Given the description of an element on the screen output the (x, y) to click on. 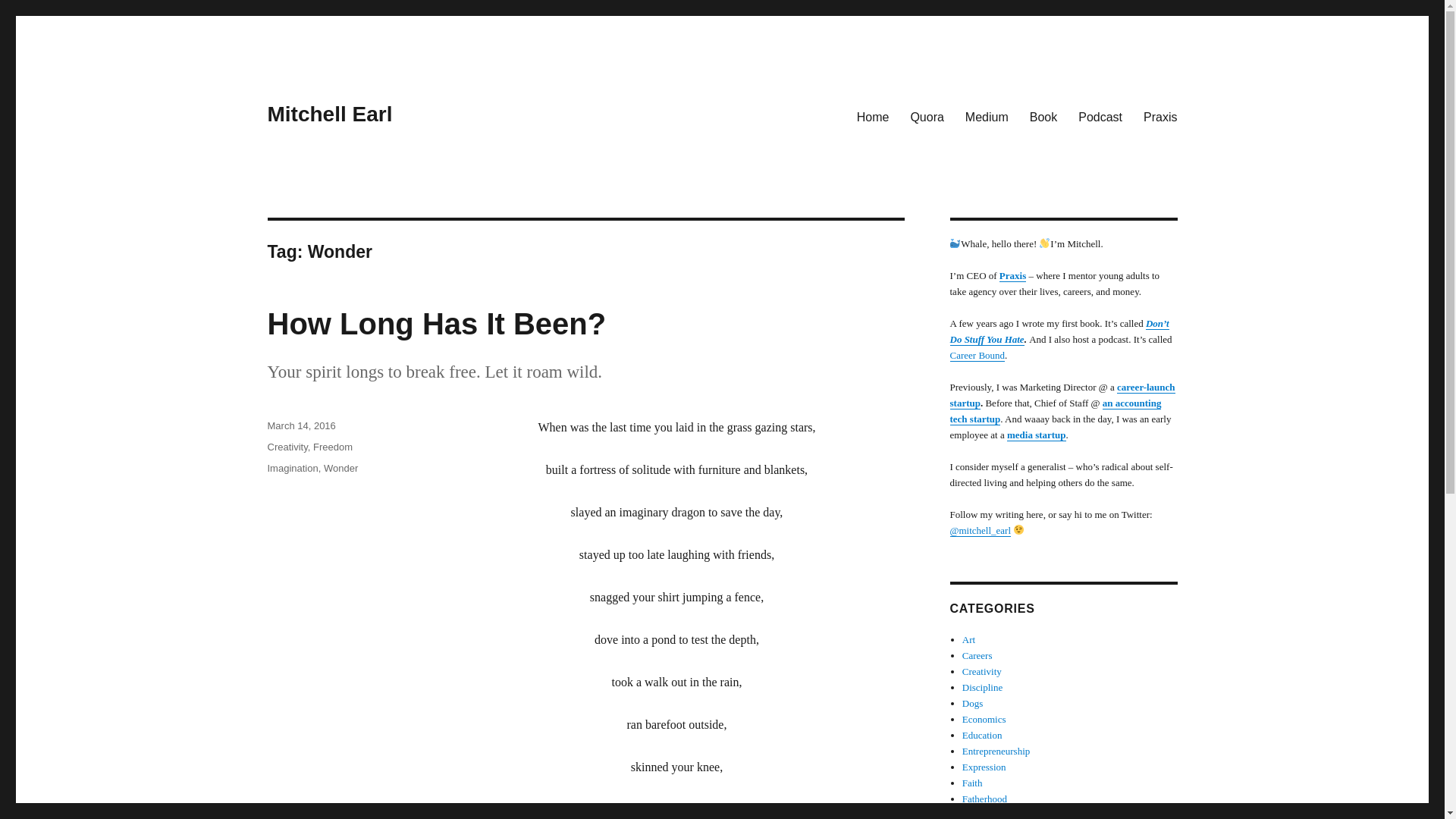
Career Bound (976, 355)
Quora (926, 116)
Podcast (1099, 116)
Mitchell Earl (328, 114)
Education (982, 735)
Careers (977, 655)
Freedom (332, 446)
career-launch startup (1061, 394)
an accounting tech startup (1054, 411)
How Long Has It Been? (435, 323)
Home (872, 116)
Entrepreneurship (996, 750)
Praxis (1160, 116)
Imagination (291, 468)
Discipline (982, 686)
